Given the description of an element on the screen output the (x, y) to click on. 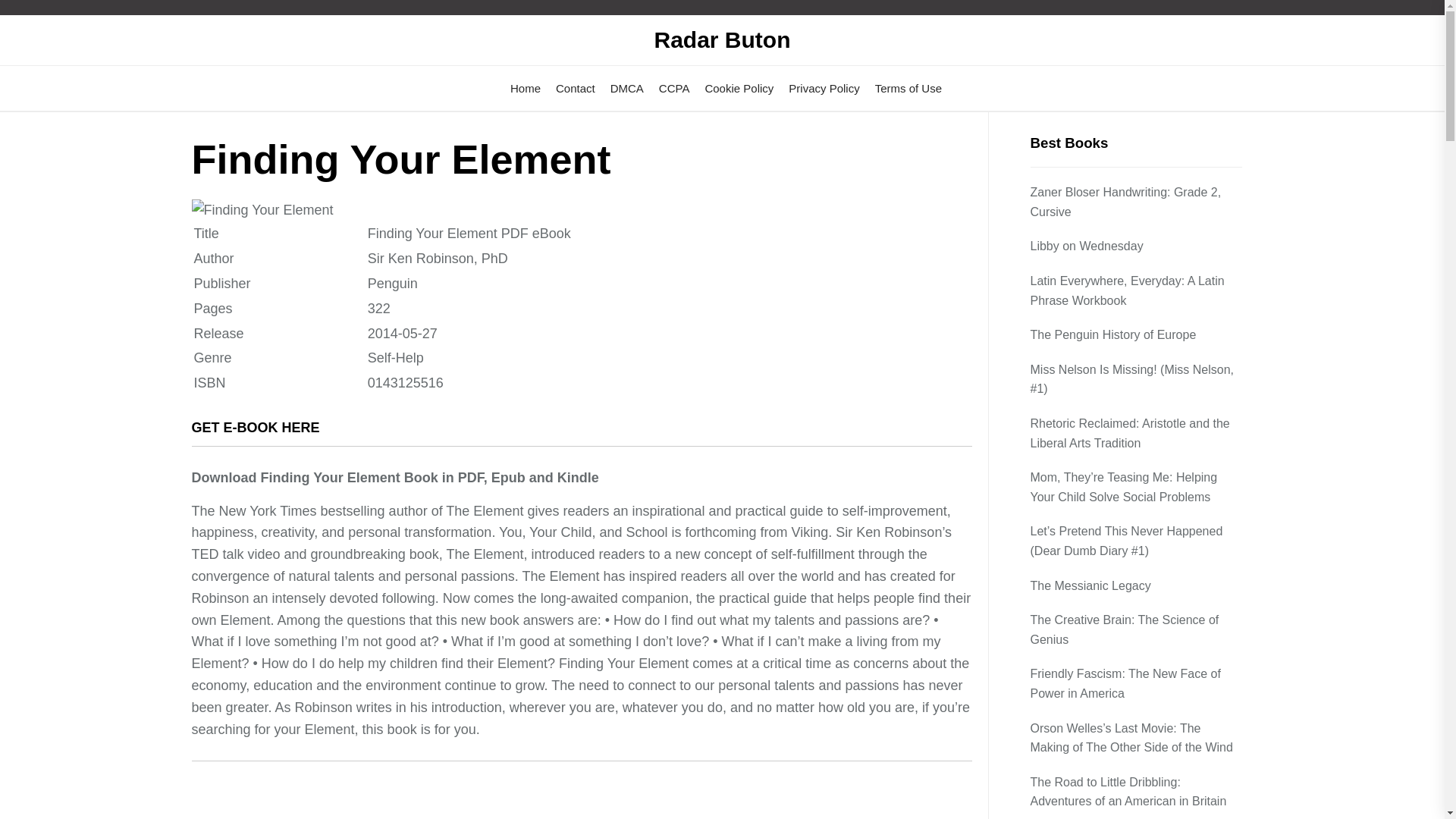
Friendly Fascism: The New Face of Power in America (1135, 683)
Privacy Policy (824, 88)
Zaner Bloser Handwriting: Grade 2, Cursive (1135, 201)
Contact (575, 88)
GET E-BOOK HERE (254, 427)
Rhetoric Reclaimed: Aristotle and the Liberal Arts Tradition (1135, 433)
DMCA (626, 88)
Latin Everywhere, Everyday: A Latin Phrase Workbook (1135, 290)
The Messianic Legacy (1092, 586)
The Creative Brain: The Science of Genius (1135, 629)
